Given the description of an element on the screen output the (x, y) to click on. 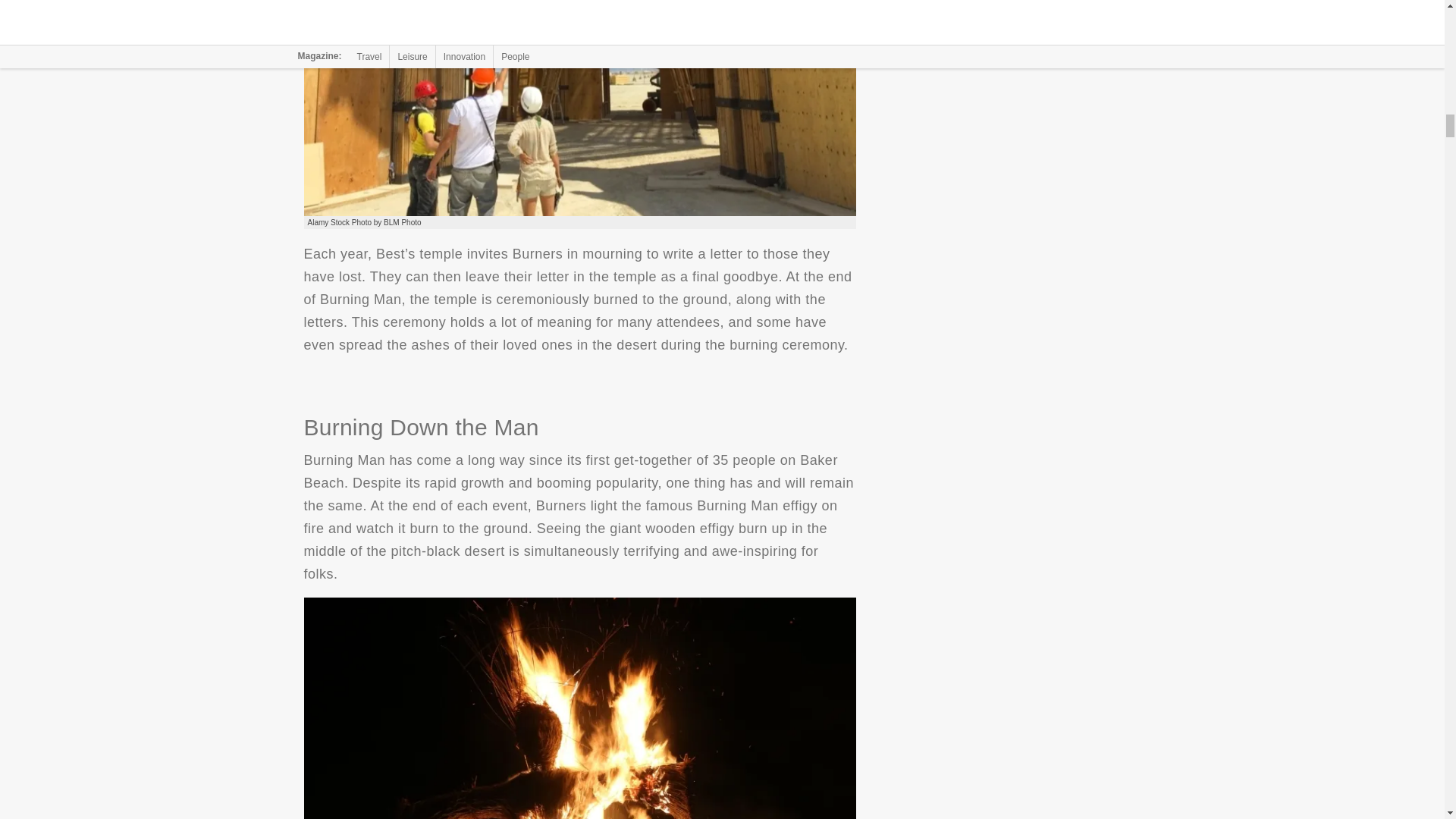
A Touching Goodbye in the Desert (579, 108)
